Given the description of an element on the screen output the (x, y) to click on. 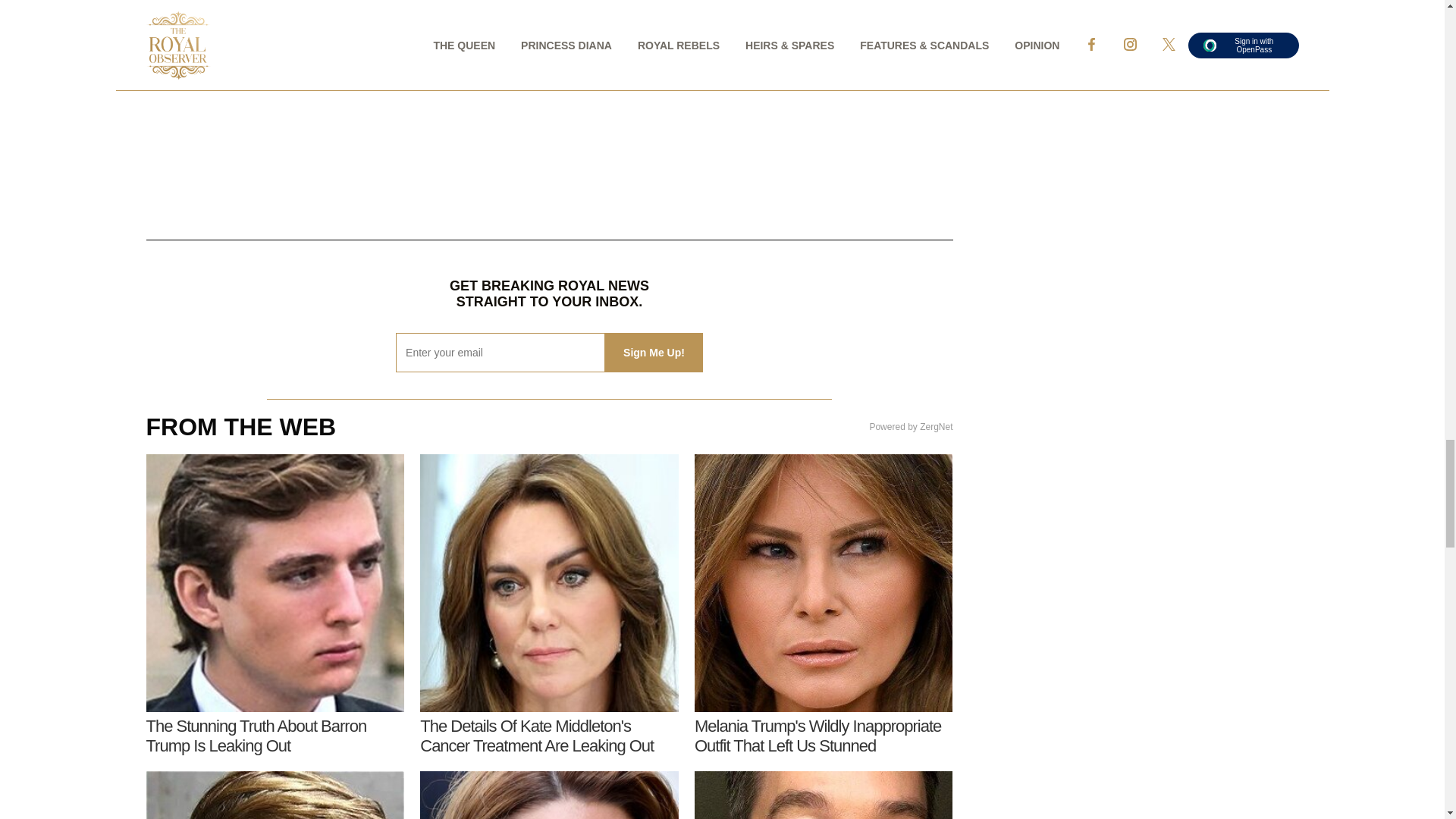
Sign Me Up! (654, 352)
